Given the description of an element on the screen output the (x, y) to click on. 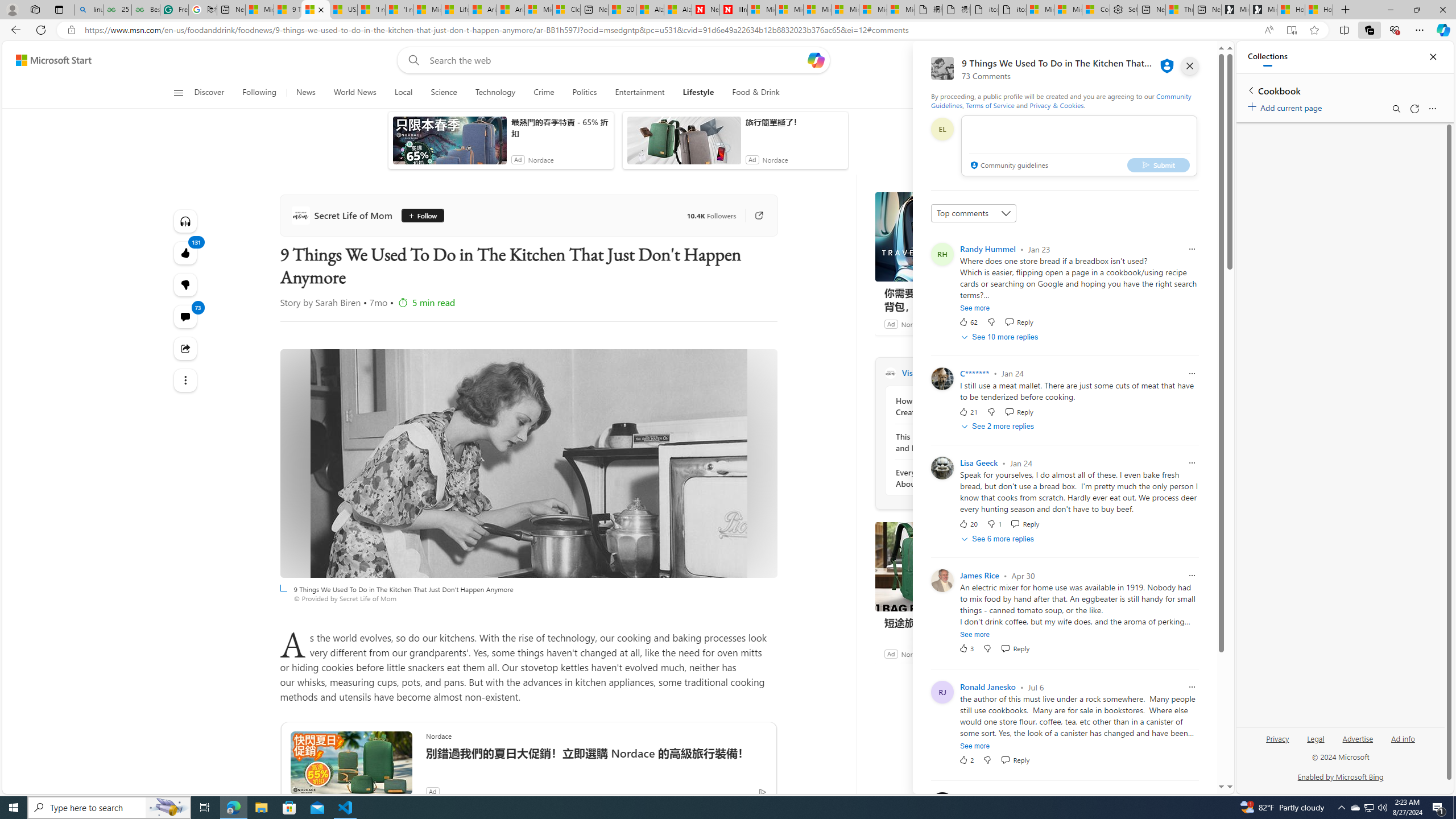
linux basic - Search (88, 9)
See 2 more replies (998, 426)
